Given the description of an element on the screen output the (x, y) to click on. 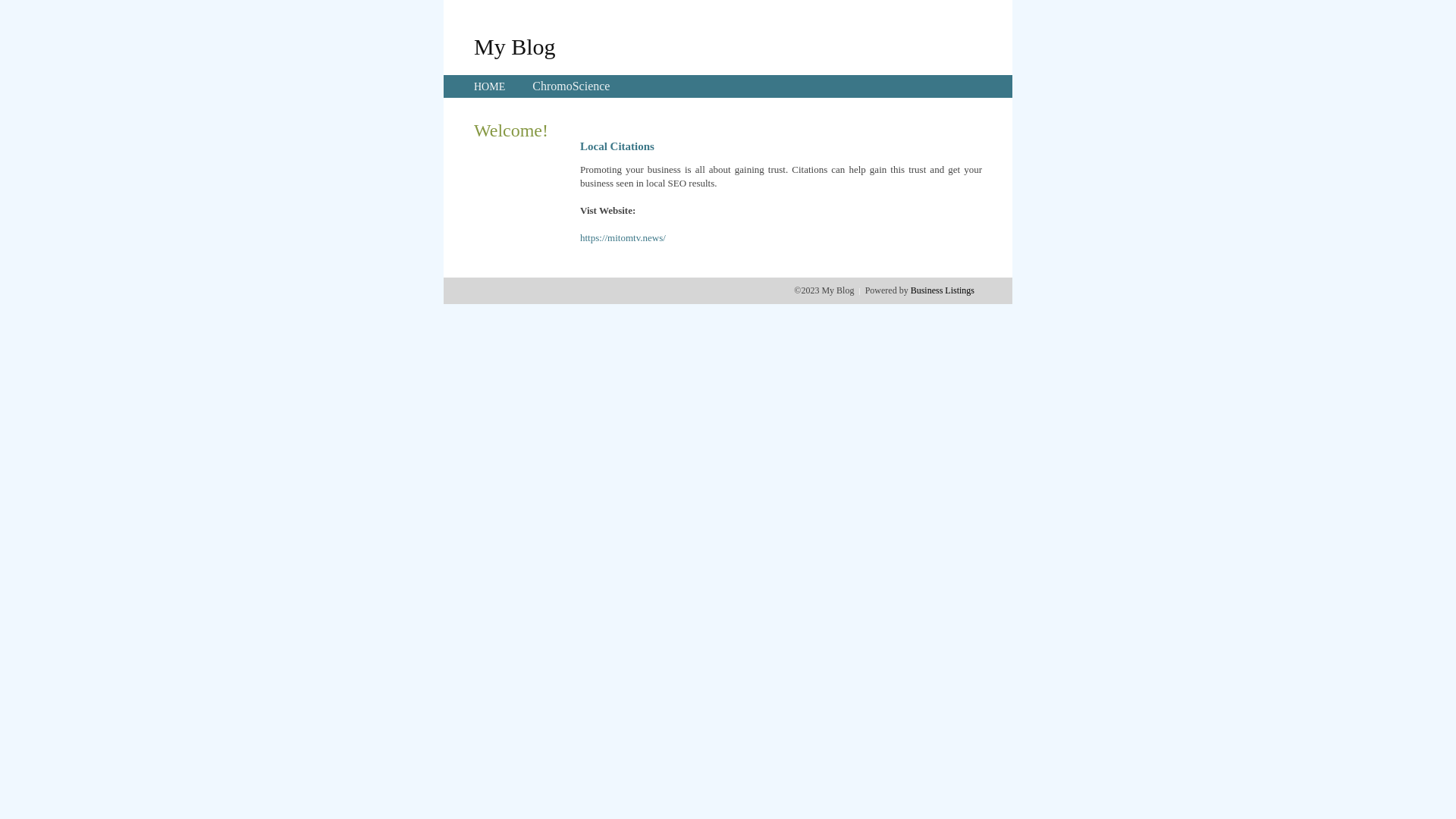
ChromoScience Element type: text (570, 85)
HOME Element type: text (489, 86)
https://mitomtv.news/ Element type: text (622, 237)
Business Listings Element type: text (942, 290)
My Blog Element type: text (514, 46)
